Given the description of an element on the screen output the (x, y) to click on. 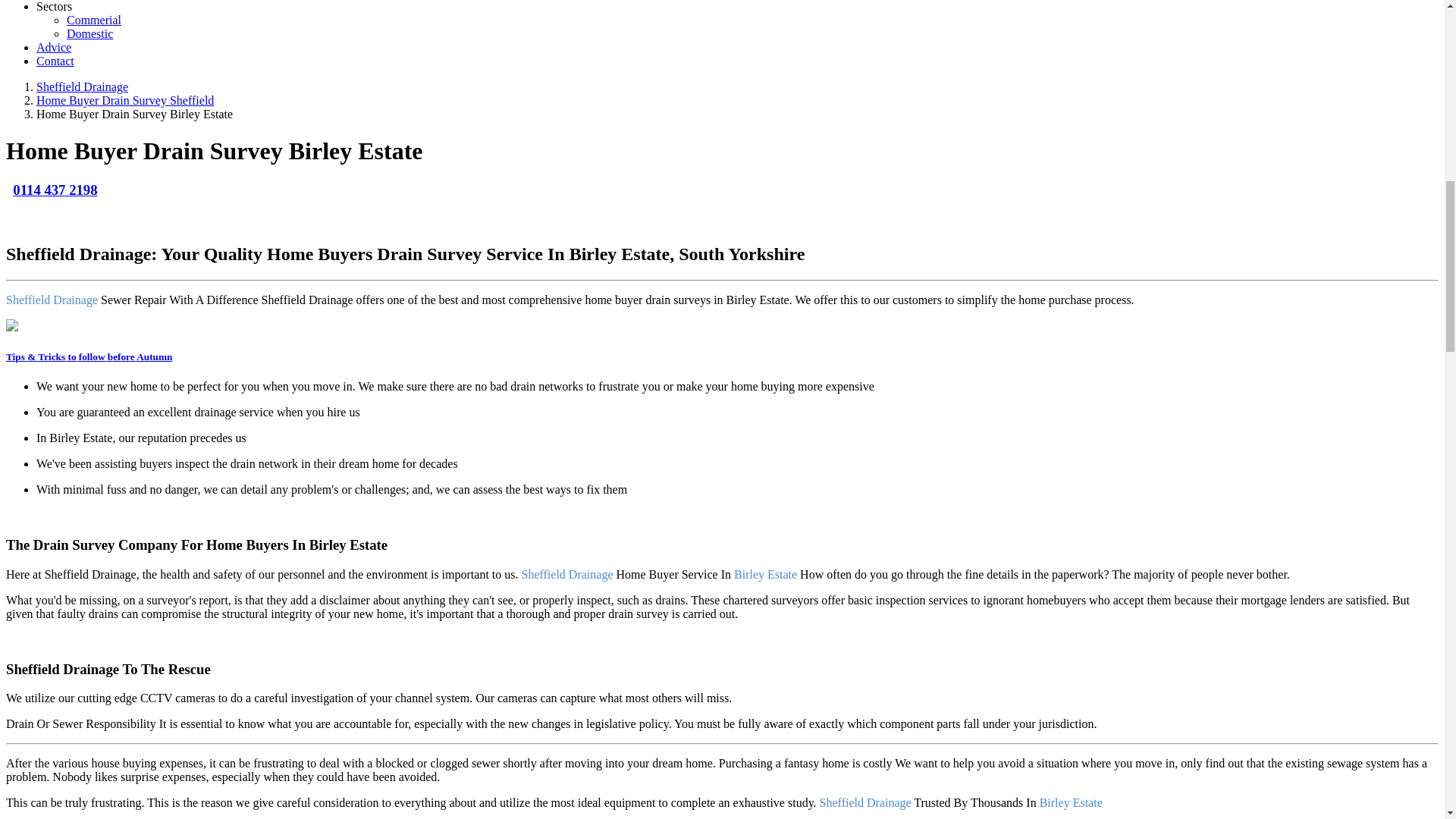
Commerial (93, 19)
Domestic (89, 33)
Sectors (53, 6)
